Given the description of an element on the screen output the (x, y) to click on. 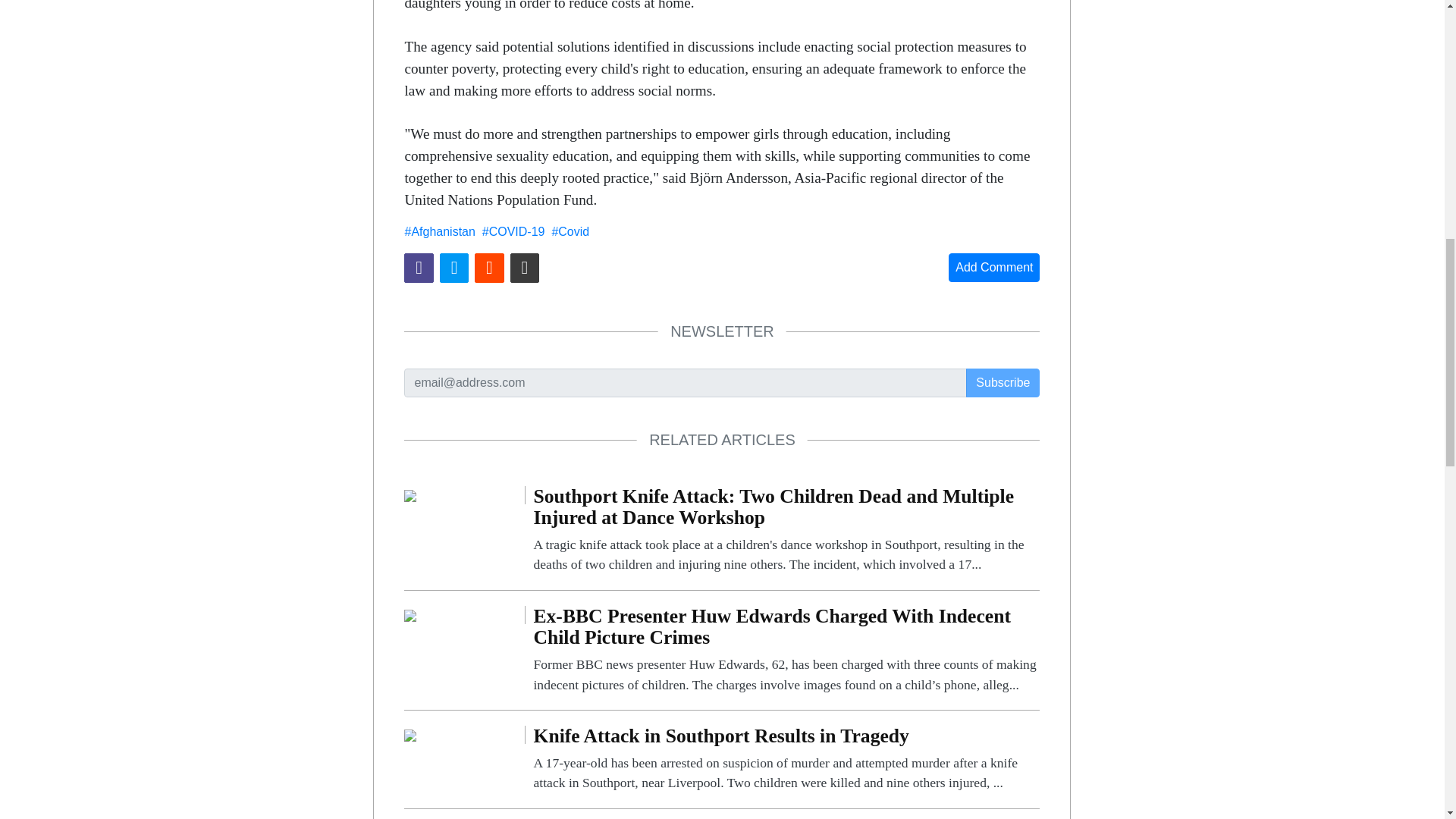
Subscribe (1002, 382)
Knife Attack in Southport Results in Tragedy (410, 734)
Add Comment (994, 267)
Knife Attack in Southport Results in Tragedy (785, 759)
